Given the description of an element on the screen output the (x, y) to click on. 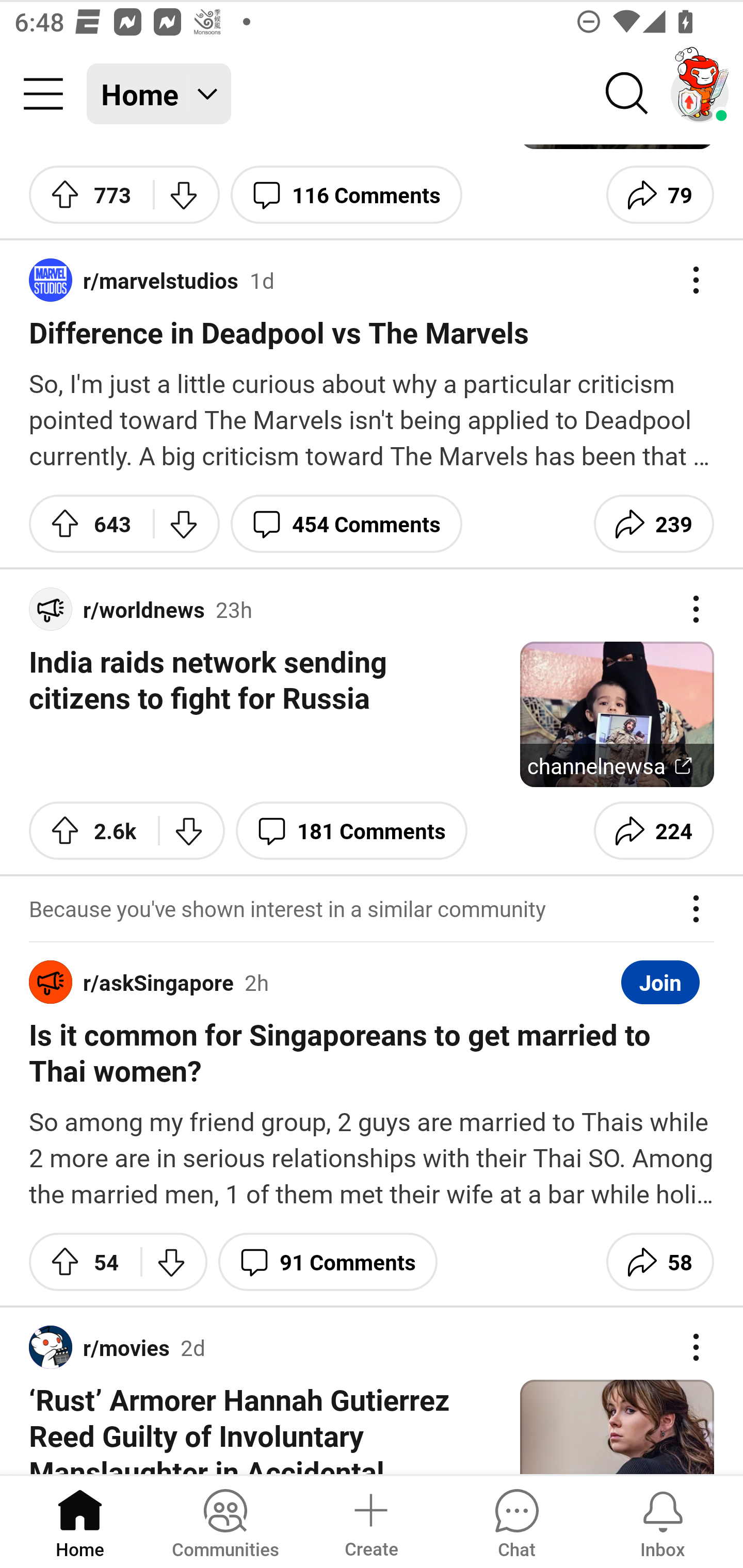
Community menu (43, 93)
Home Home feed (158, 93)
Search (626, 93)
TestAppium002 account (699, 93)
Home (80, 1520)
Communities (225, 1520)
Create a post Create (370, 1520)
Chat (516, 1520)
Inbox (662, 1520)
